Given the description of an element on the screen output the (x, y) to click on. 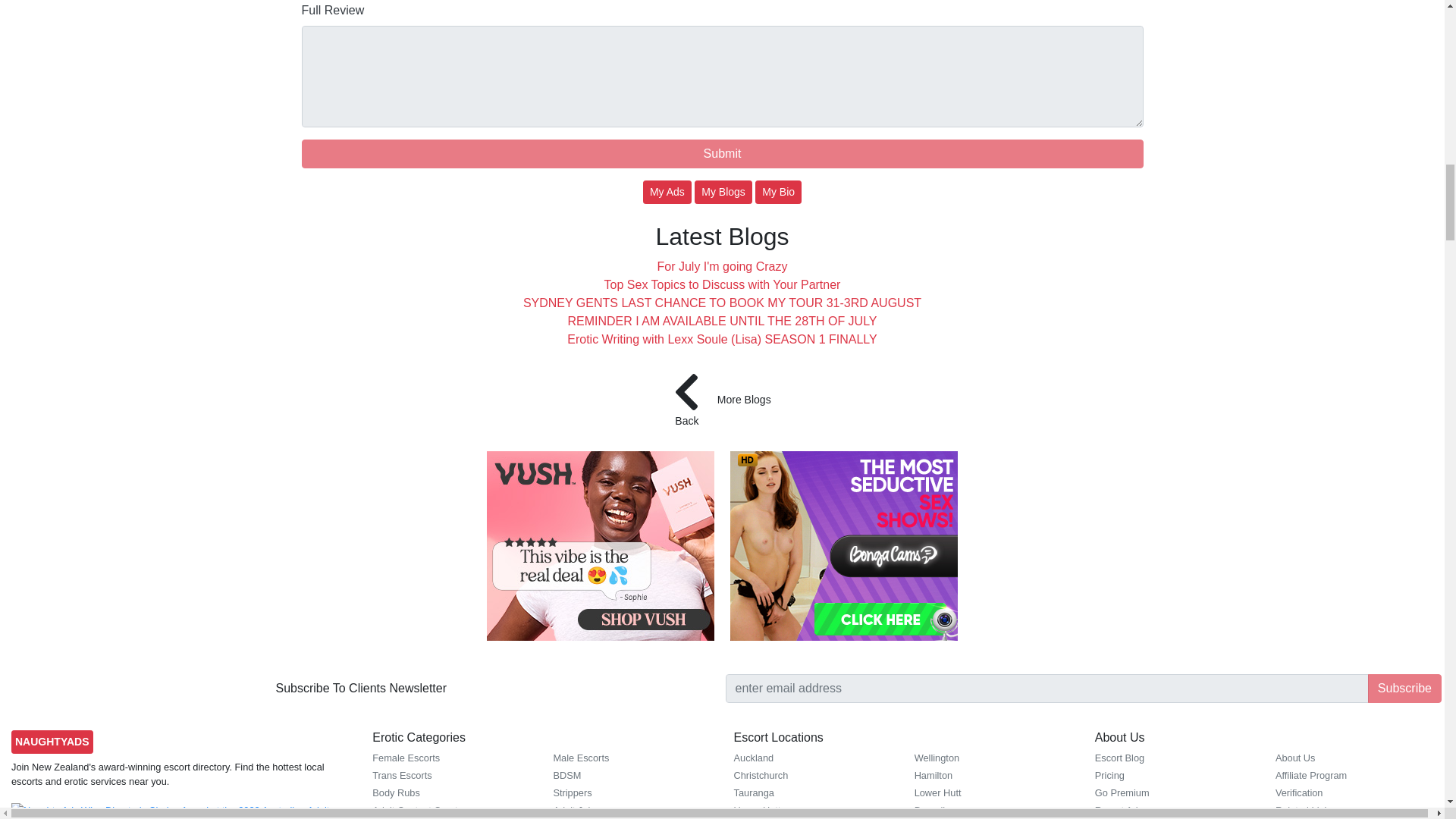
Submit (721, 153)
Naughty Ads - Escorts Directory (52, 741)
